Given the description of an element on the screen output the (x, y) to click on. 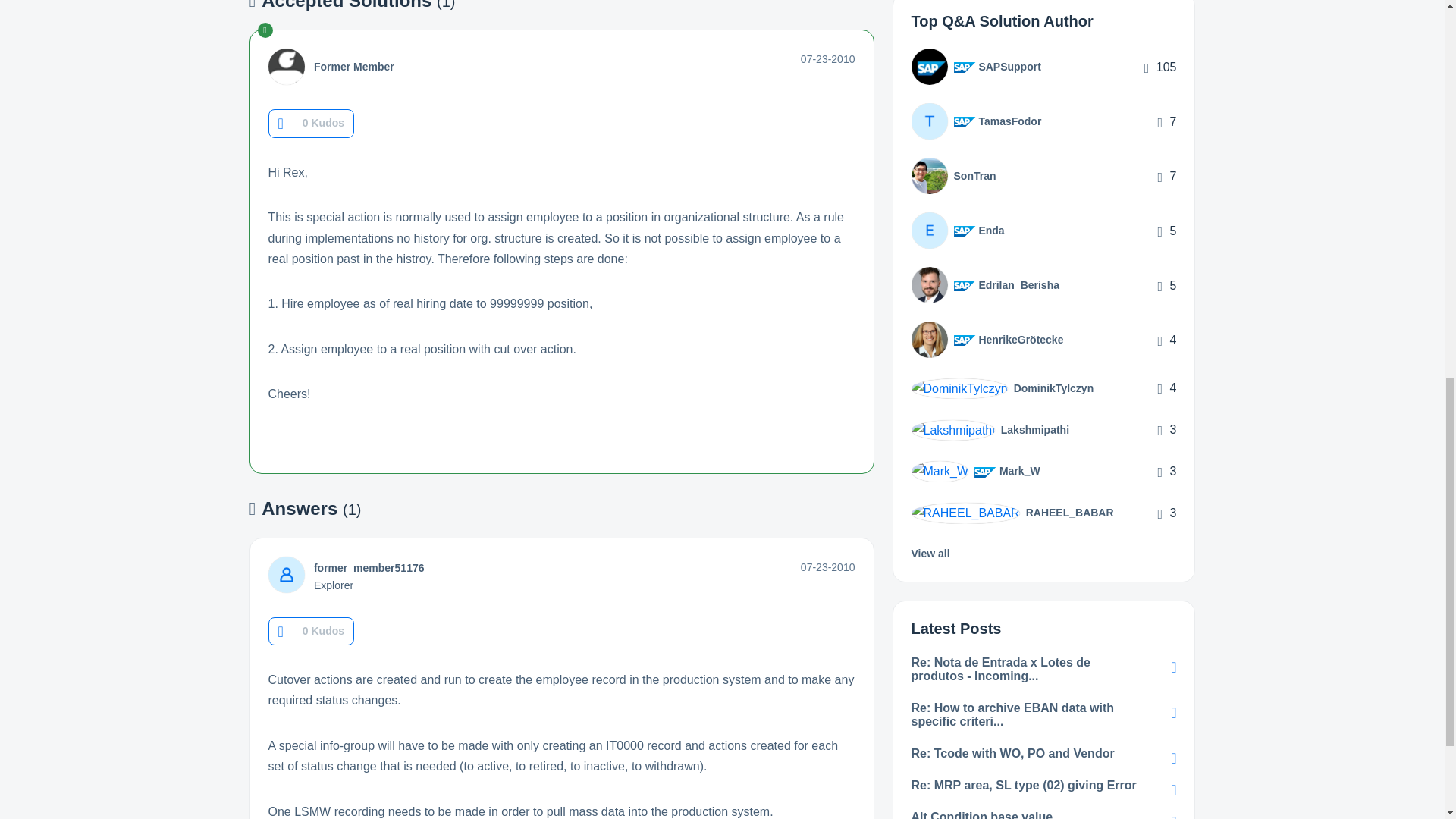
The total number of kudos this post has received. (323, 122)
Posted on (828, 59)
